Given the description of an element on the screen output the (x, y) to click on. 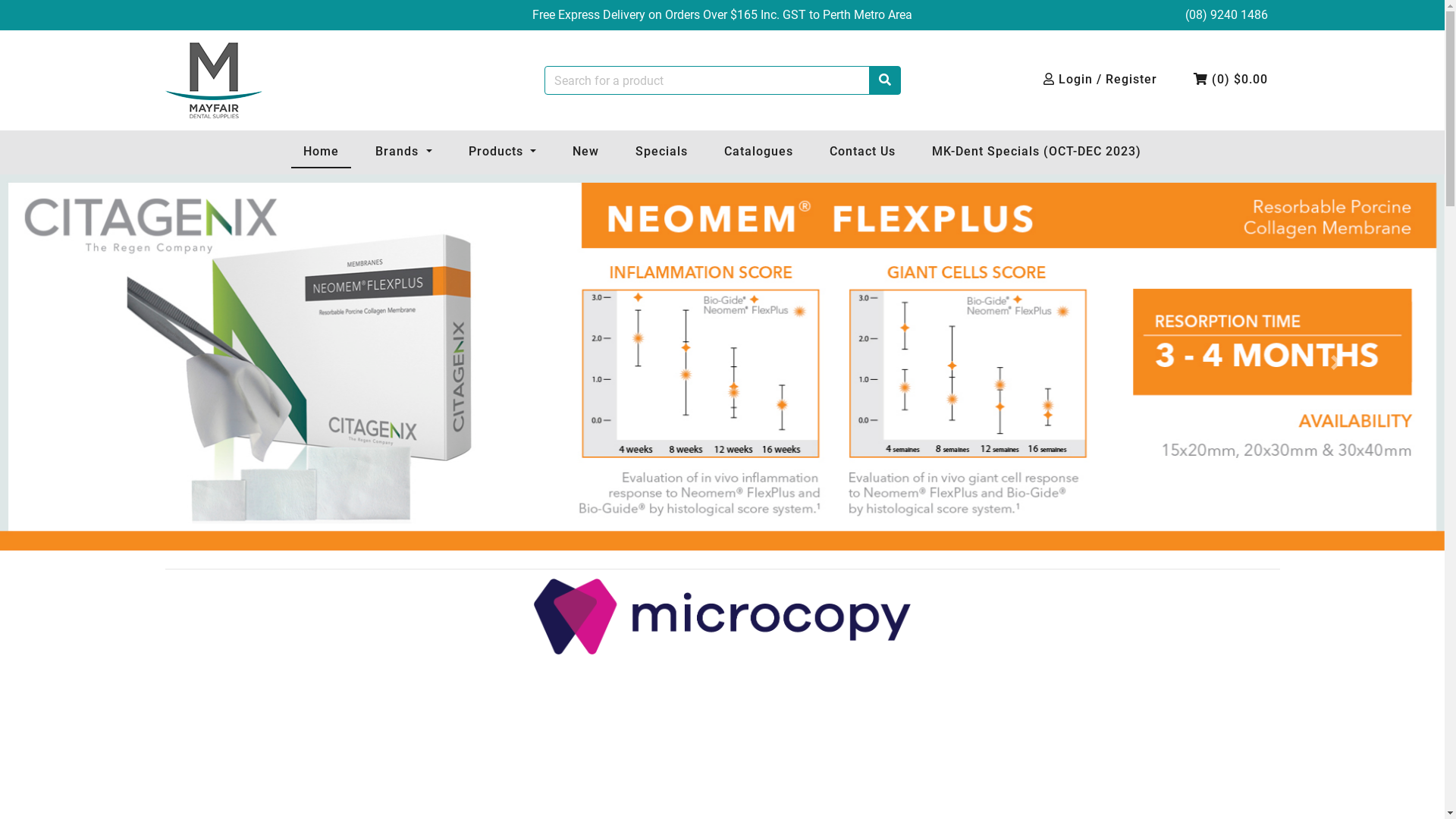
Search Products Element type: hover (884, 79)
Home Element type: text (321, 152)
Mayfair Dental Supplies Home Element type: hover (213, 80)
(08) 9240 1486 Element type: text (1225, 14)
Contact Us Element type: text (862, 152)
(0) $0.00 Element type: text (1230, 80)
Brands Element type: text (403, 152)
Catalogues Element type: text (758, 152)
New Element type: text (585, 152)
Products Element type: text (502, 152)
MK-Dent Specials (OCT-DEC 2023) Element type: text (1036, 152)
Previous Element type: text (108, 362)
Next Element type: text (1335, 362)
Go Element type: text (884, 79)
Specials Element type: text (661, 152)
Login / Register Element type: text (1100, 80)
